Given the description of an element on the screen output the (x, y) to click on. 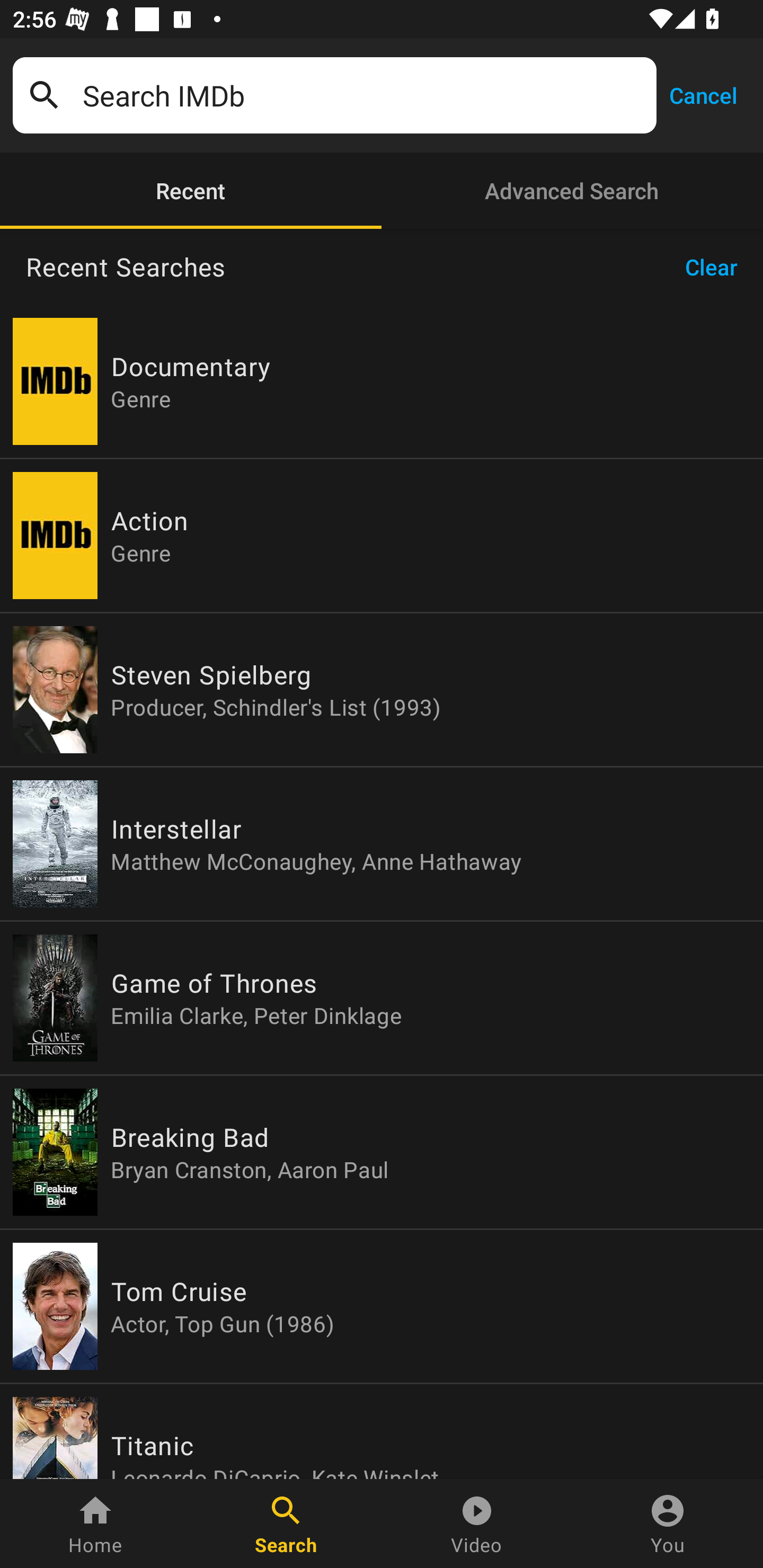
Cancel (703, 94)
Search IMDb (363, 95)
Advanced Search (572, 190)
Clear (717, 266)
Documentary Genre (381, 381)
Action Genre (381, 535)
Steven Spielberg Producer, Schindler's List (1993) (381, 689)
Interstellar Matthew McConaughey, Anne Hathaway (381, 844)
Game of Thrones Emilia Clarke, Peter Dinklage (381, 997)
Breaking Bad Bryan Cranston, Aaron Paul (381, 1151)
Tom Cruise Actor, Top Gun (1986) (381, 1305)
Titanic Leonardo DiCaprio, Kate Winslet (381, 1431)
Home (95, 1523)
Video (476, 1523)
You (667, 1523)
